Given the description of an element on the screen output the (x, y) to click on. 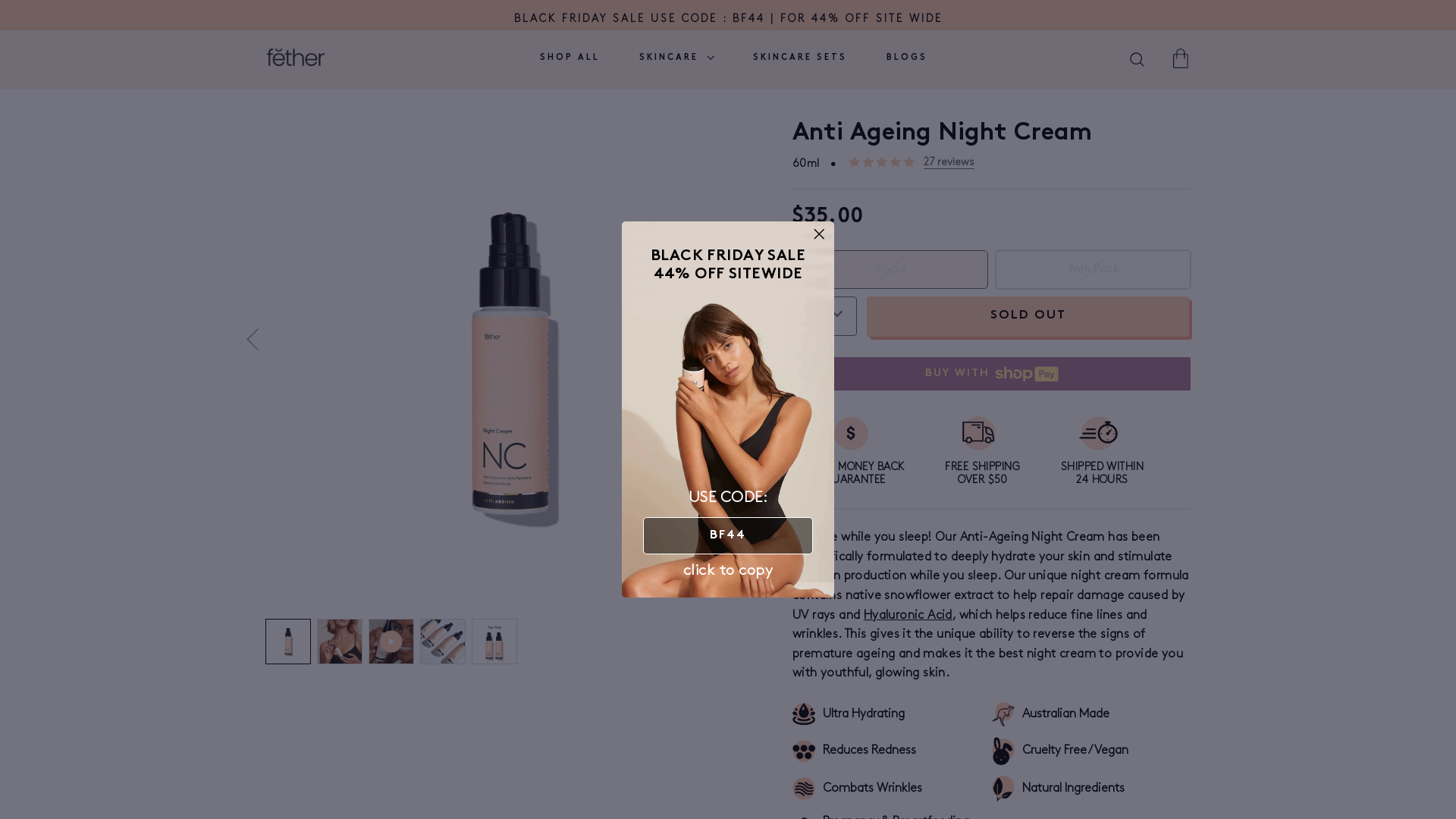
"Close (esc)" Element type: text (820, 233)
27 reviews Element type: text (948, 162)
SEARCH Element type: text (1136, 60)
SHOP ALL Element type: text (569, 57)
BF44 Element type: text (727, 535)
SOLD OUT Element type: text (1027, 316)
SKINCARE Element type: text (676, 57)
Skip to content Element type: text (0, 0)
BLOGS Element type: text (906, 57)
Previous Element type: text (257, 339)
Hyaluronic Acid Element type: text (907, 615)
SKINCARE SETS Element type: text (799, 57)
Next Element type: text (761, 339)
CART Element type: text (1180, 57)
